Given the description of an element on the screen output the (x, y) to click on. 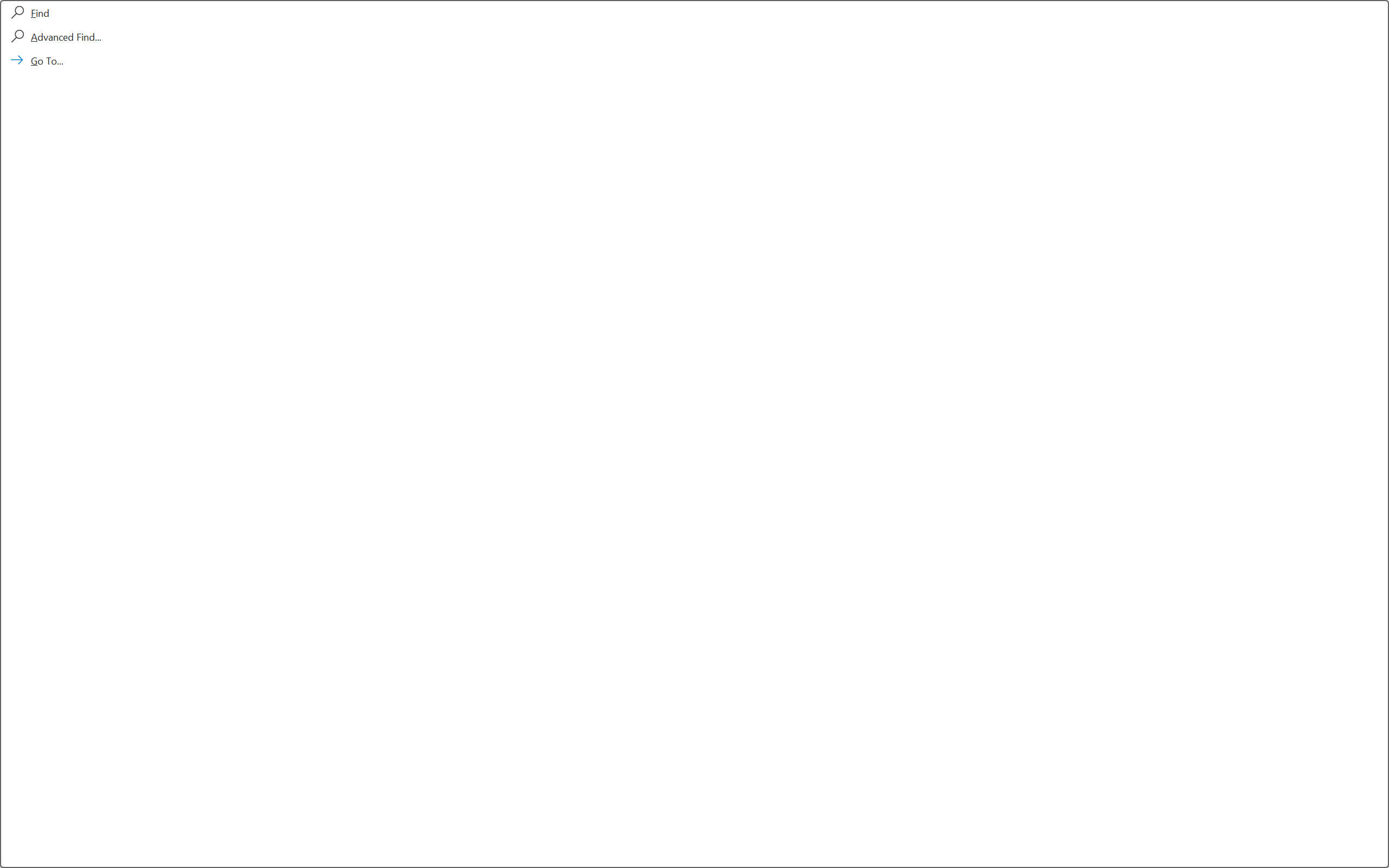
&Find (694, 434)
